Given the description of an element on the screen output the (x, y) to click on. 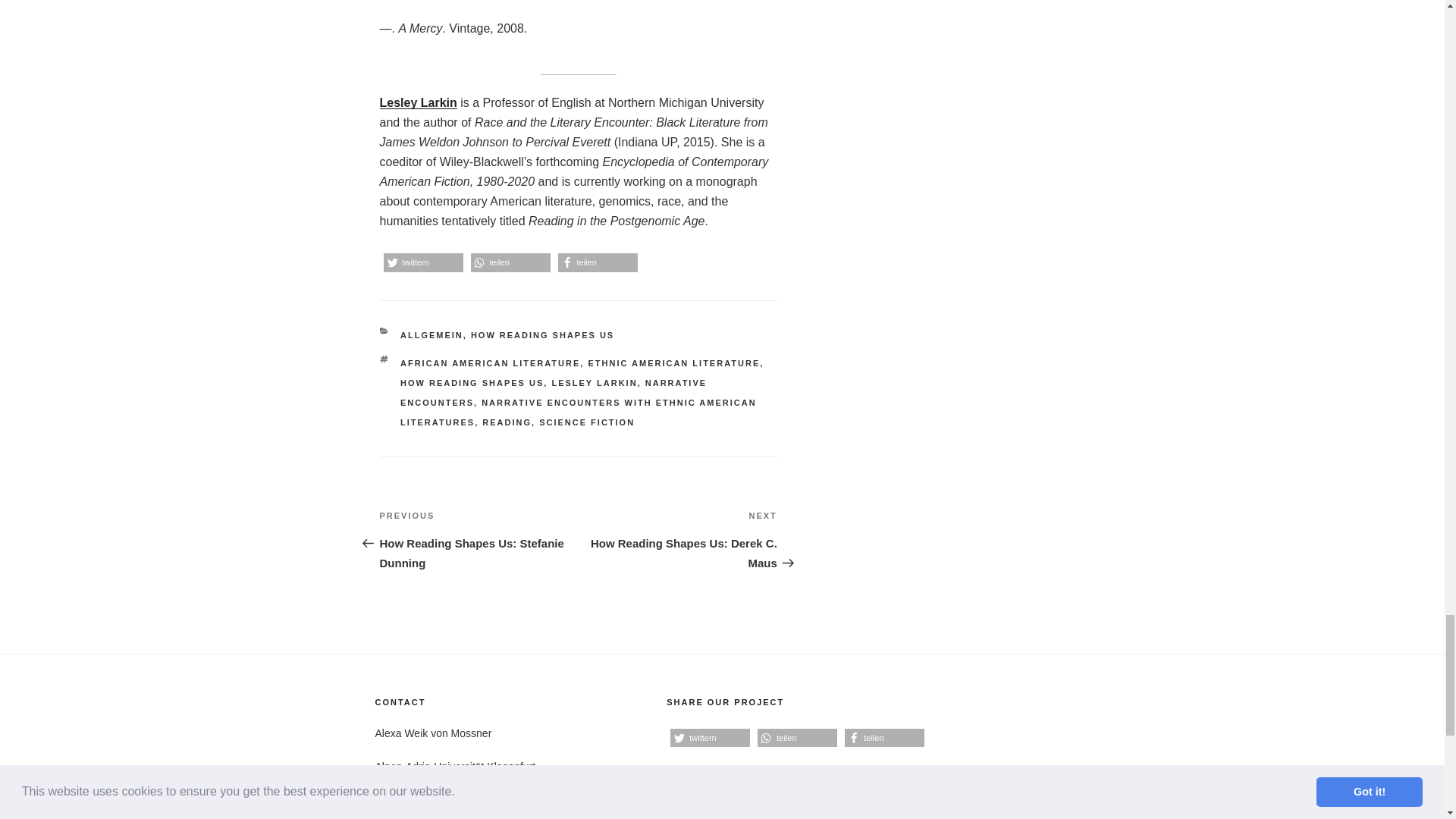
Bei Twitter teilen (423, 262)
NARRATIVE ENCOUNTERS (553, 392)
teilen  (597, 262)
HOW READING SHAPES US (471, 382)
NARRATIVE ENCOUNTERS WITH ETHNIC AMERICAN LITERATURES (578, 412)
Bei Facebook teilen (597, 262)
twittern  (423, 262)
READING (506, 421)
Bei Facebook teilen (884, 737)
LESLEY LARKIN (594, 382)
Bei Twitter teilen (709, 737)
Bei Whatsapp teilen (797, 737)
SCIENCE FICTION (586, 421)
Lesley Larkin (417, 102)
ETHNIC AMERICAN LITERATURE (674, 362)
